Given the description of an element on the screen output the (x, y) to click on. 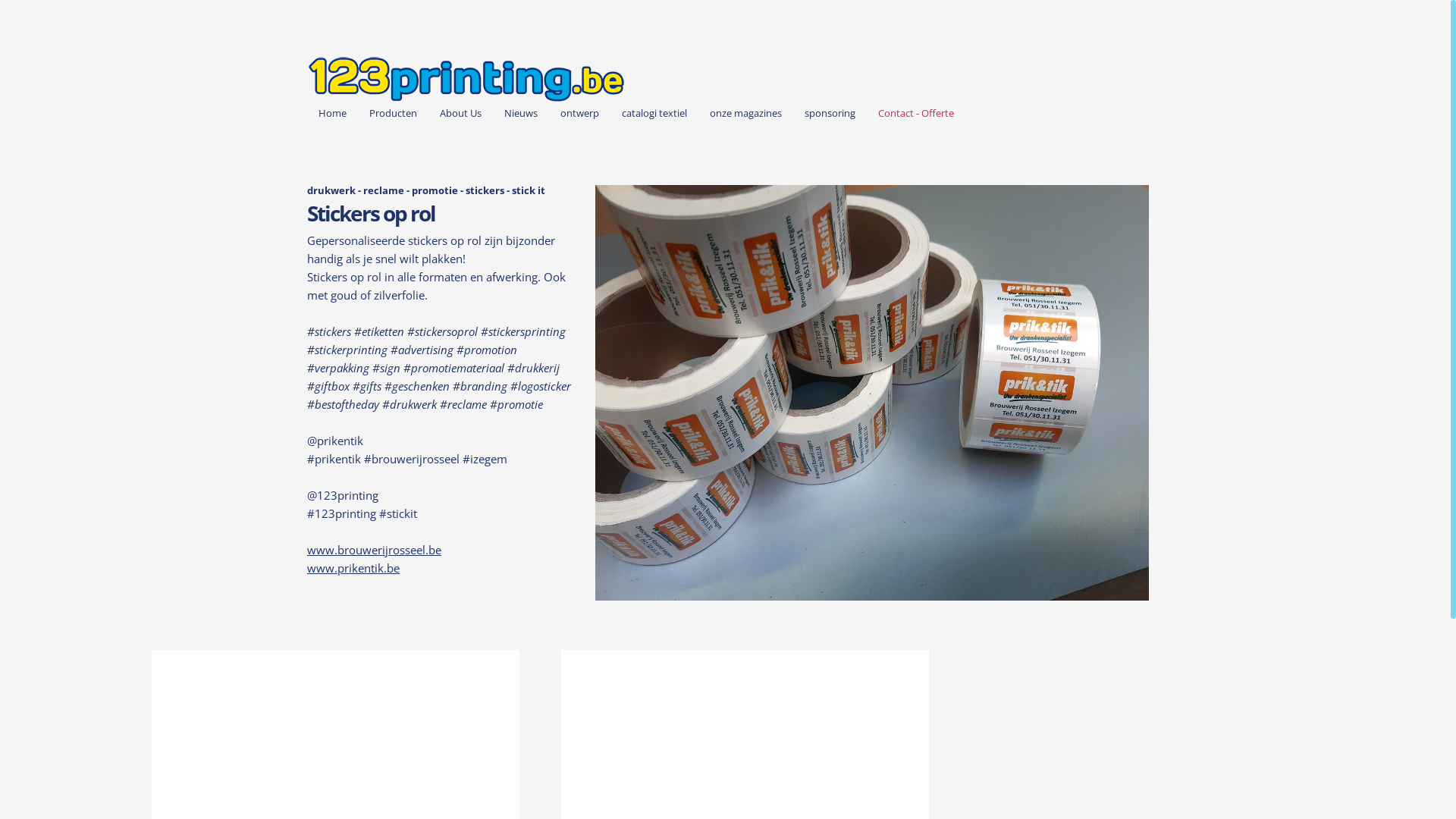
stickers op rol Element type: hover (871, 392)
ontwerp Element type: text (579, 113)
Nieuws Element type: text (520, 113)
www.brouwerijrosseel.be Element type: text (374, 549)
Contact - Offerte Element type: text (915, 113)
onze magazines Element type: text (745, 113)
www.prikentik.be Element type: text (353, 567)
Producten Element type: text (392, 113)
Home Element type: text (332, 113)
catalogi textiel Element type: text (654, 113)
About Us Element type: text (460, 113)
sponsoring Element type: text (829, 113)
